Given the description of an element on the screen output the (x, y) to click on. 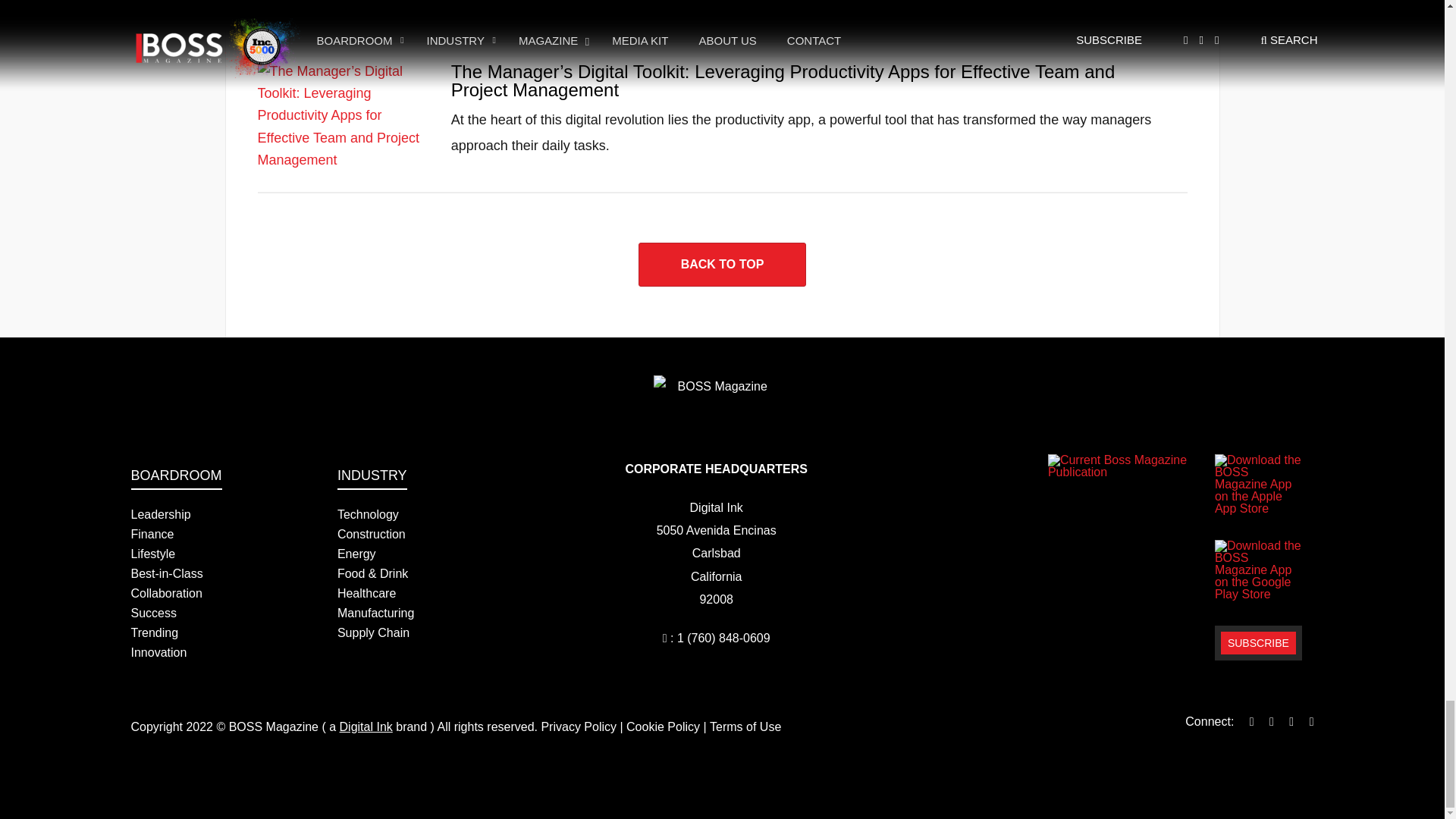
Download the BOSS Magazine App on the Google Play Store (1257, 569)
BOSS Magazine (715, 396)
Current BOSS Magazine Publication (1127, 466)
Download the BOSS Magazine App on the Apple App Store (1257, 484)
